Given the description of an element on the screen output the (x, y) to click on. 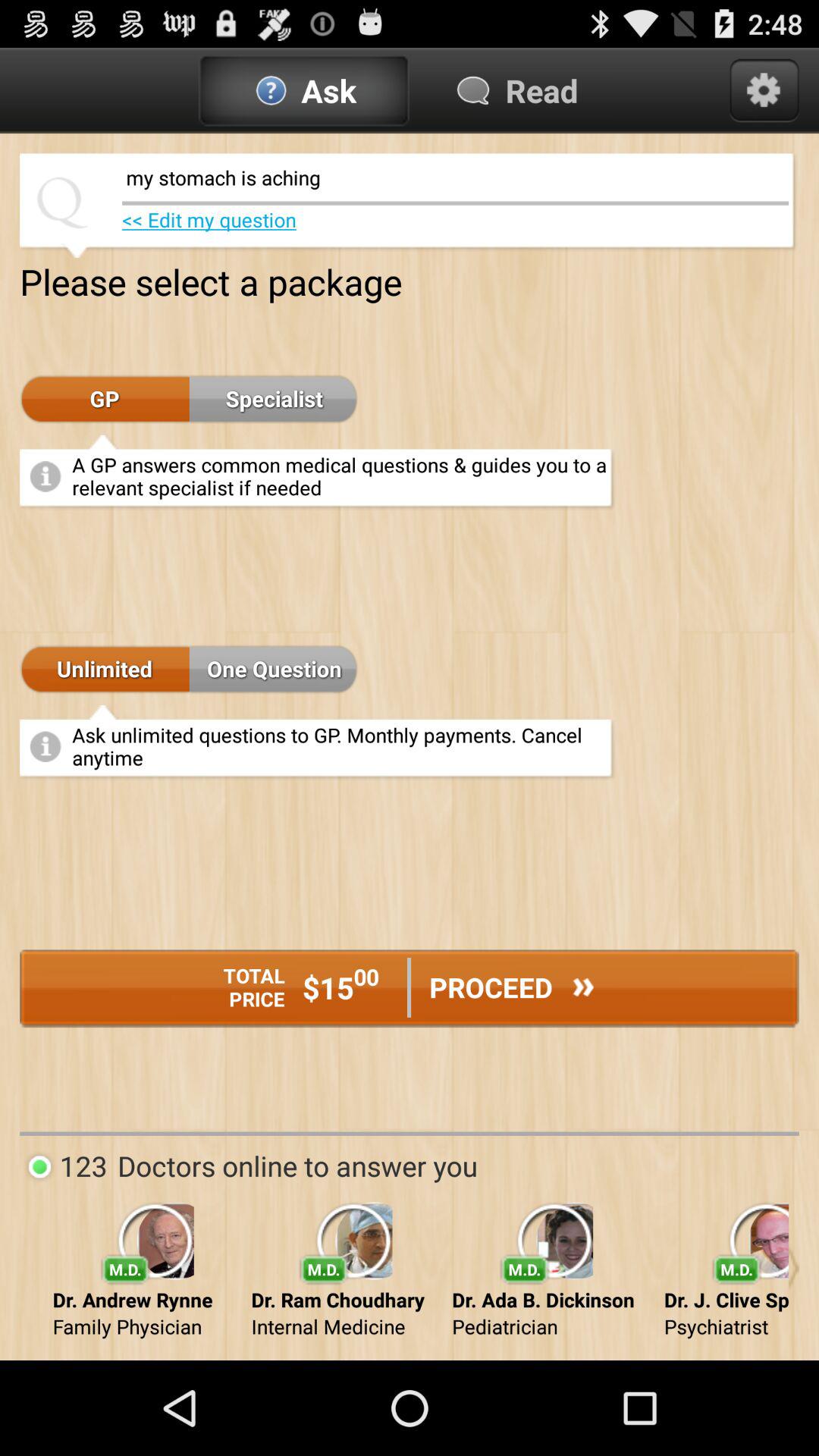
select one question (273, 669)
